Given the description of an element on the screen output the (x, y) to click on. 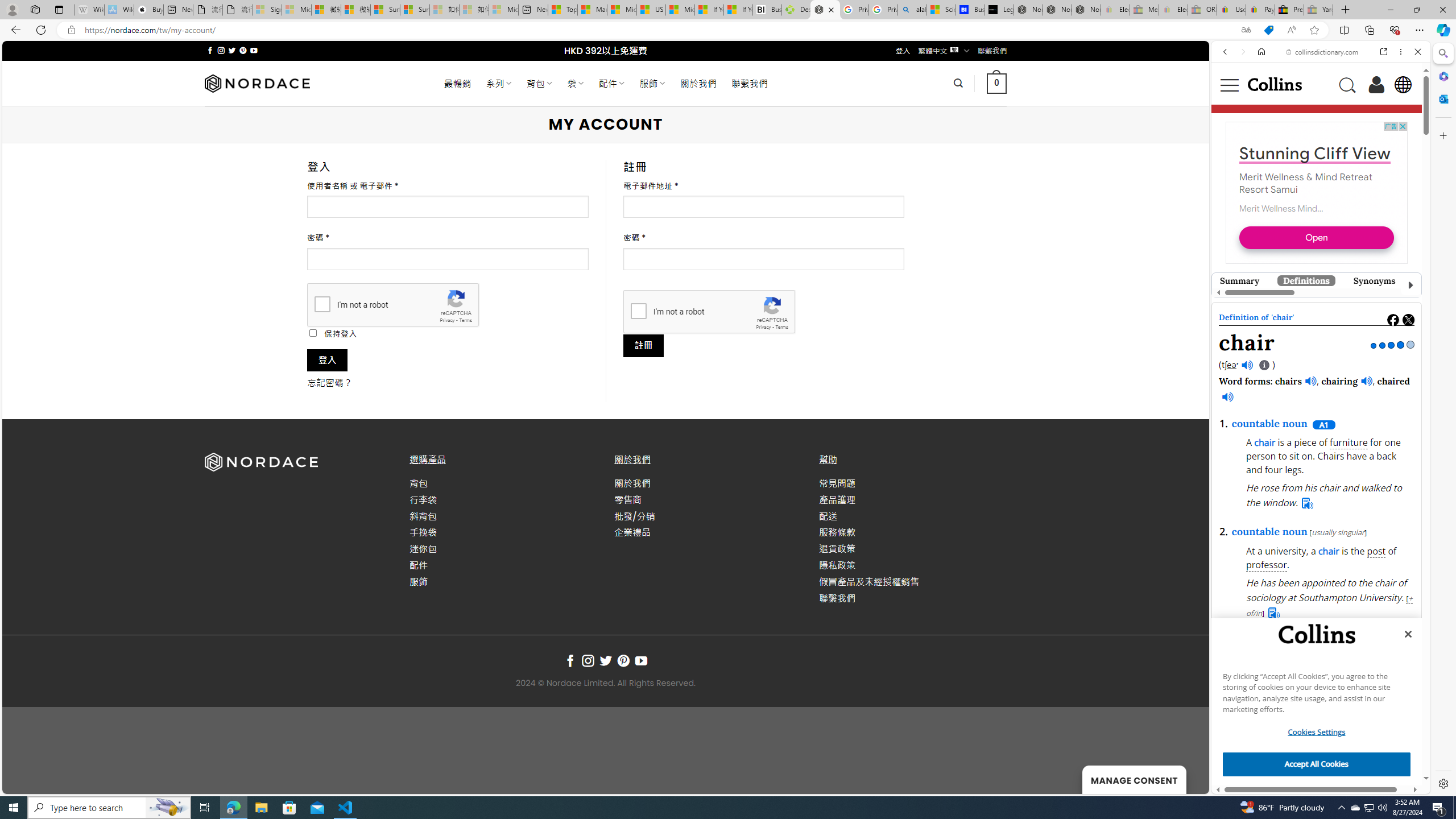
Class: ns-vyjj0-e-1 svg-anchor (1315, 304)
chairman (1337, 350)
Go to top (1185, 777)
Go to the homepage (1274, 84)
